Given the description of an element on the screen output the (x, y) to click on. 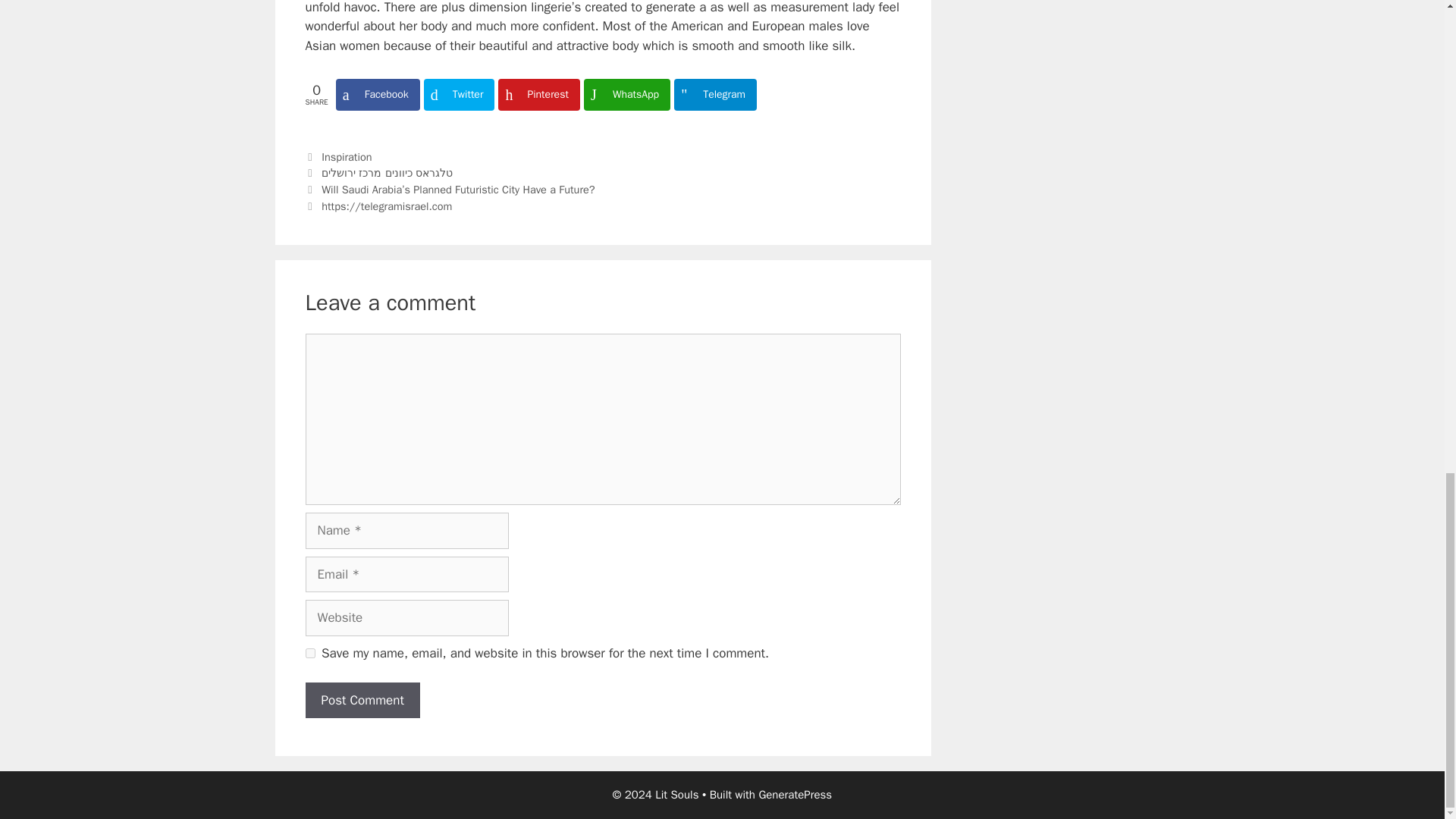
Share on Telegram (715, 94)
Telegram (715, 94)
Share on Pinterest (538, 94)
Inspiration (346, 156)
Facebook (378, 94)
Share on Facebook (378, 94)
Share on Twitter (459, 94)
Post Comment (361, 700)
yes (309, 653)
WhatsApp (626, 94)
